Given the description of an element on the screen output the (x, y) to click on. 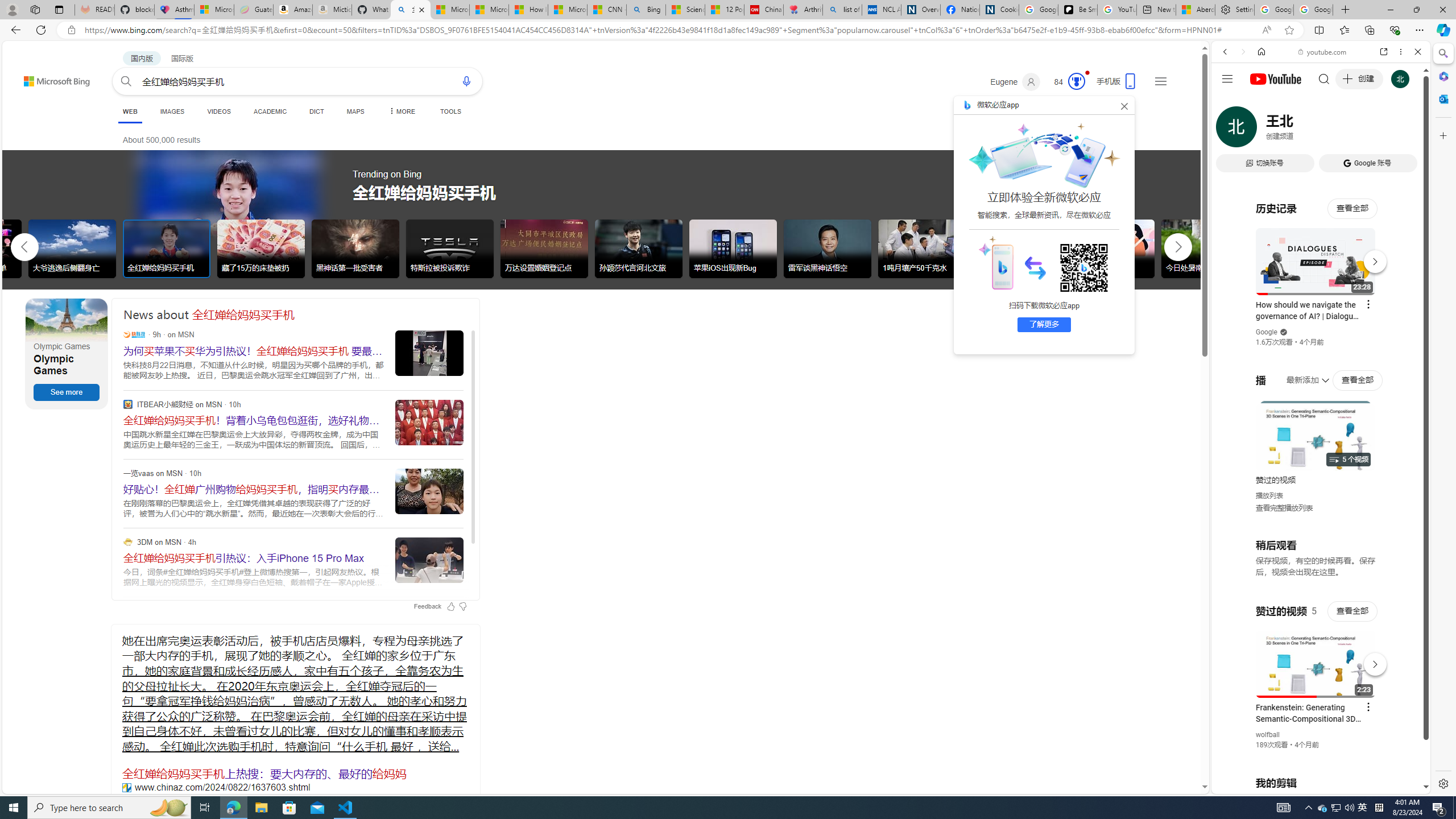
Eugene (1015, 81)
list of asthma inhalers uk - Search (842, 9)
Google (1320, 281)
AutomationID: fly_arrimg (1035, 267)
#you (1315, 659)
AutomationID: mfa_root (1161, 752)
Google (1266, 331)
Side bar (1443, 418)
Add this page to favorites (Ctrl+D) (1289, 29)
